Given the description of an element on the screen output the (x, y) to click on. 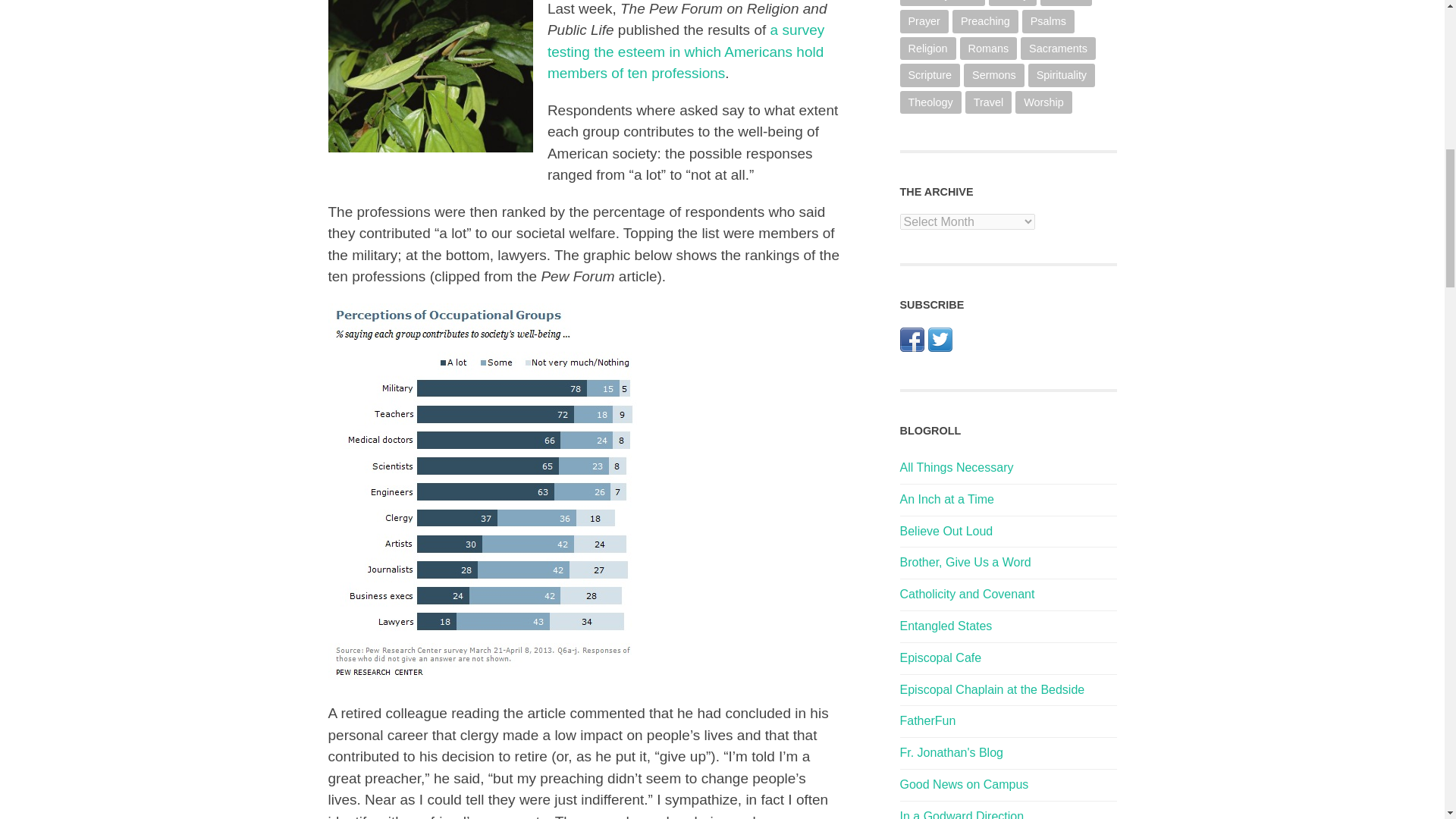
The Pew Forum (685, 51)
Praying Mantis (429, 76)
Connect on Facebook (911, 347)
